Given the description of an element on the screen output the (x, y) to click on. 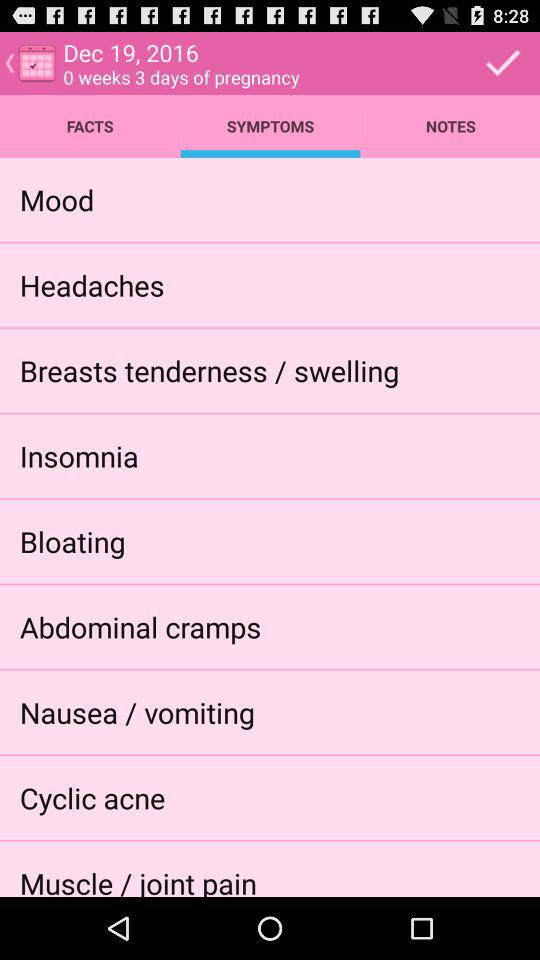
launch the item above the cyclic acne icon (136, 712)
